Given the description of an element on the screen output the (x, y) to click on. 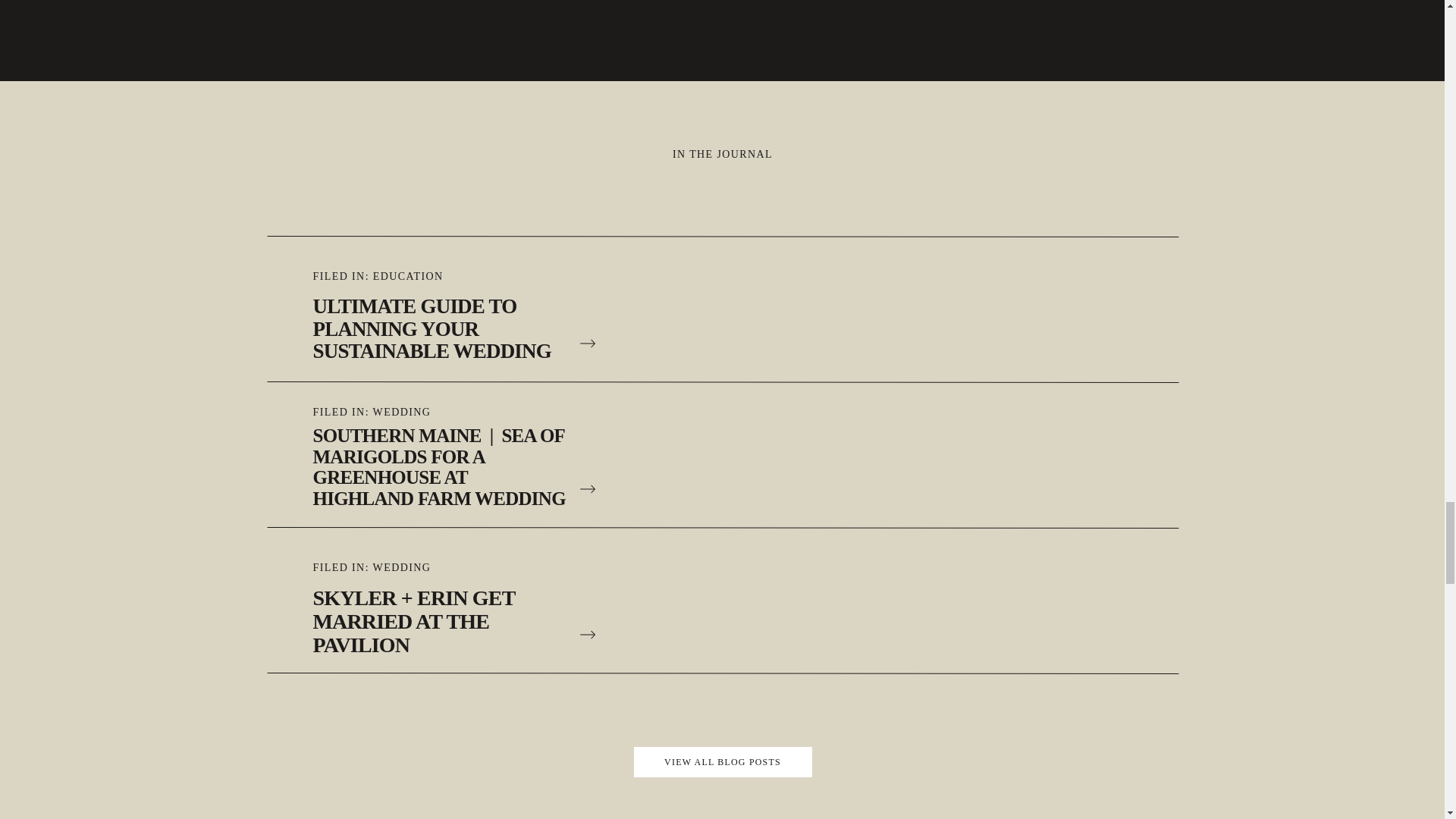
VIEW ALL BLOG POSTS (722, 761)
FILED IN: WEDDING (430, 412)
ULTIMATE GUIDE TO PLANNING YOUR SUSTAINABLE WEDDING (440, 324)
